Given the description of an element on the screen output the (x, y) to click on. 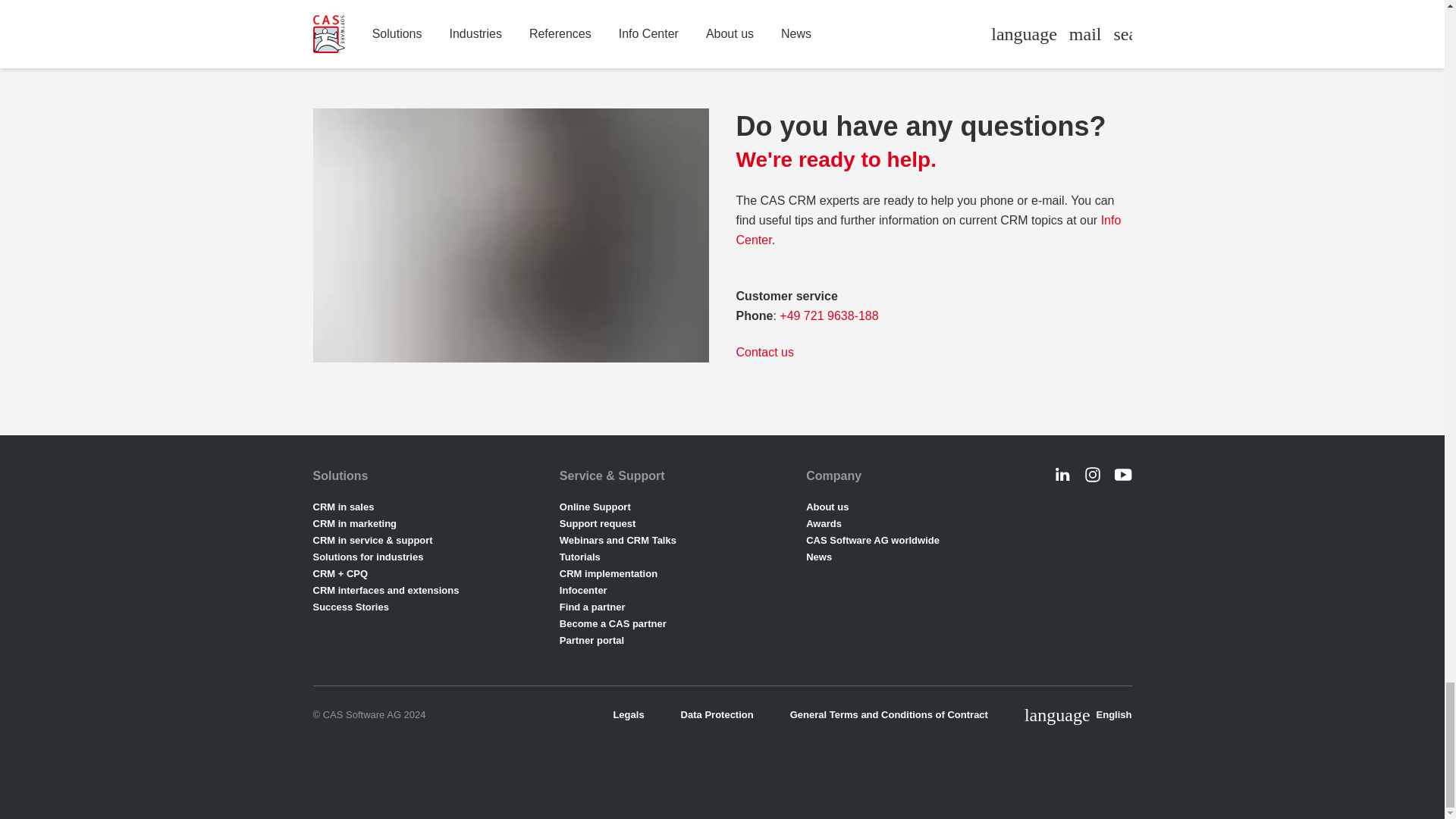
YouTube (1122, 475)
LinkedIn (1061, 475)
Instagram (1091, 475)
